Given the description of an element on the screen output the (x, y) to click on. 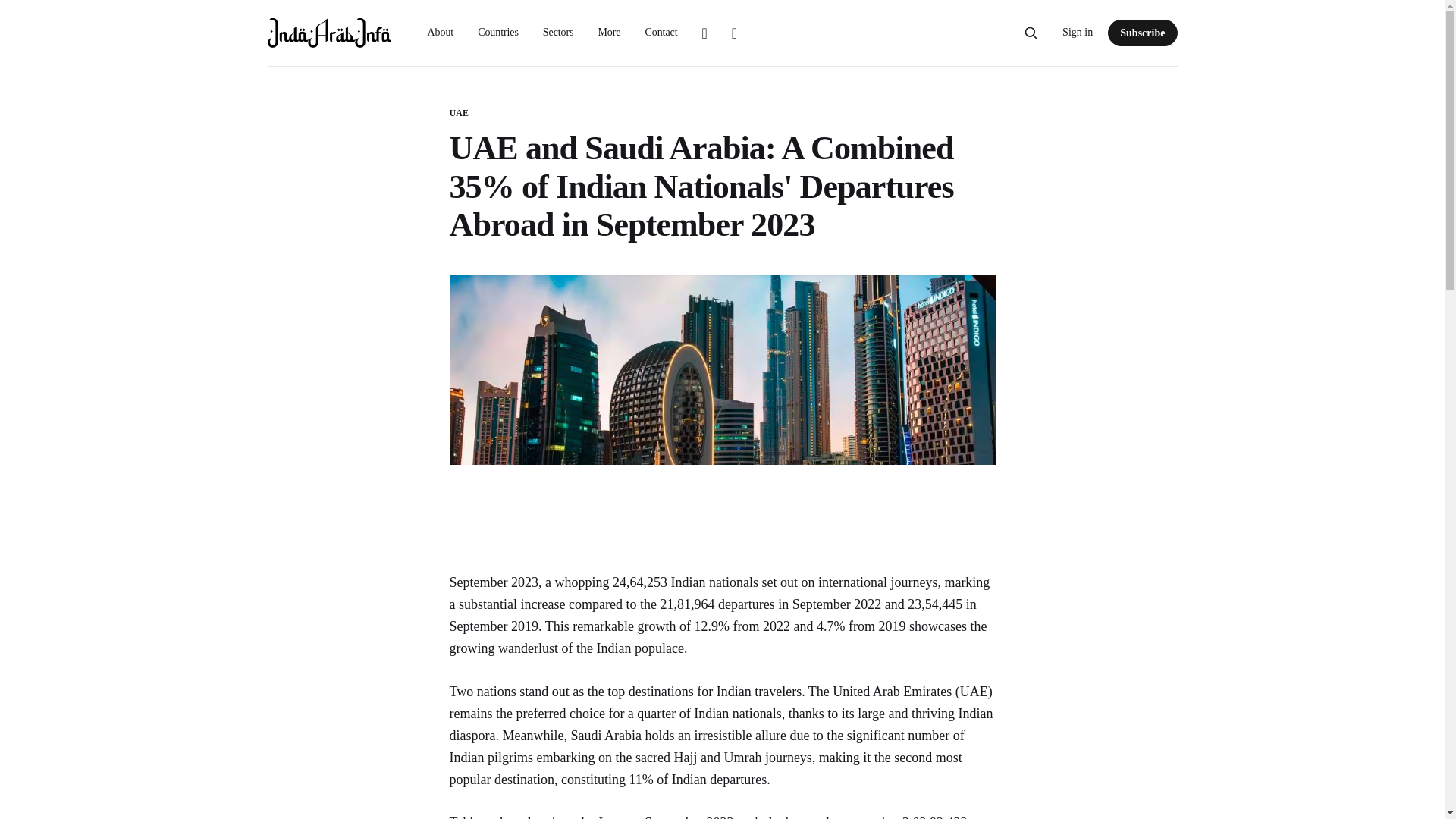
UAE (458, 113)
Sign in (1077, 32)
Sectors (558, 31)
More (608, 31)
Contact (661, 31)
About (441, 31)
Countries (497, 31)
Subscribe (1142, 32)
